Given the description of an element on the screen output the (x, y) to click on. 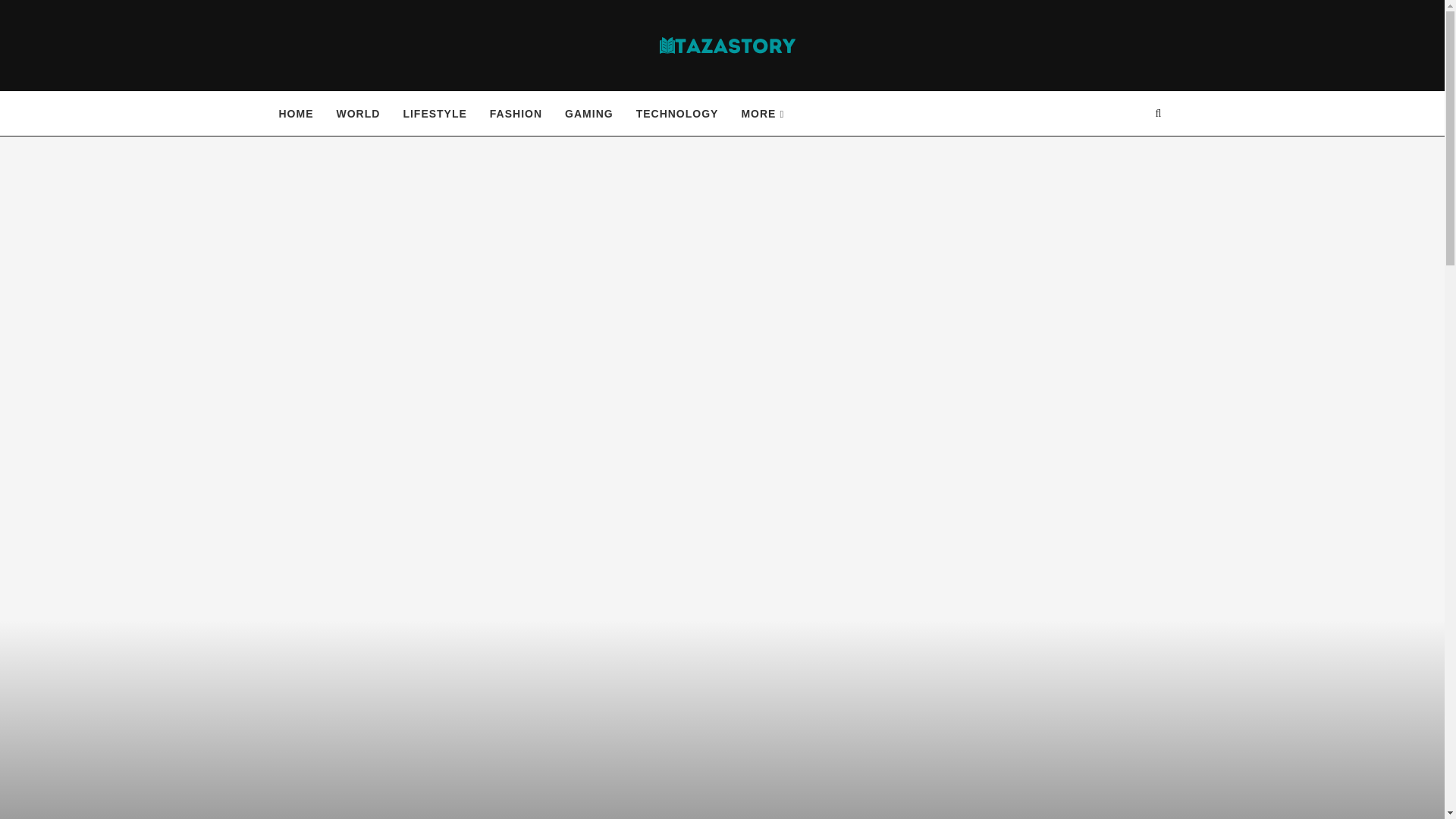
WORLD (358, 113)
GAMING (588, 113)
MORE (762, 113)
FASHION (515, 113)
TECHNOLOGY (677, 113)
LIFESTYLE (434, 113)
